Given the description of an element on the screen output the (x, y) to click on. 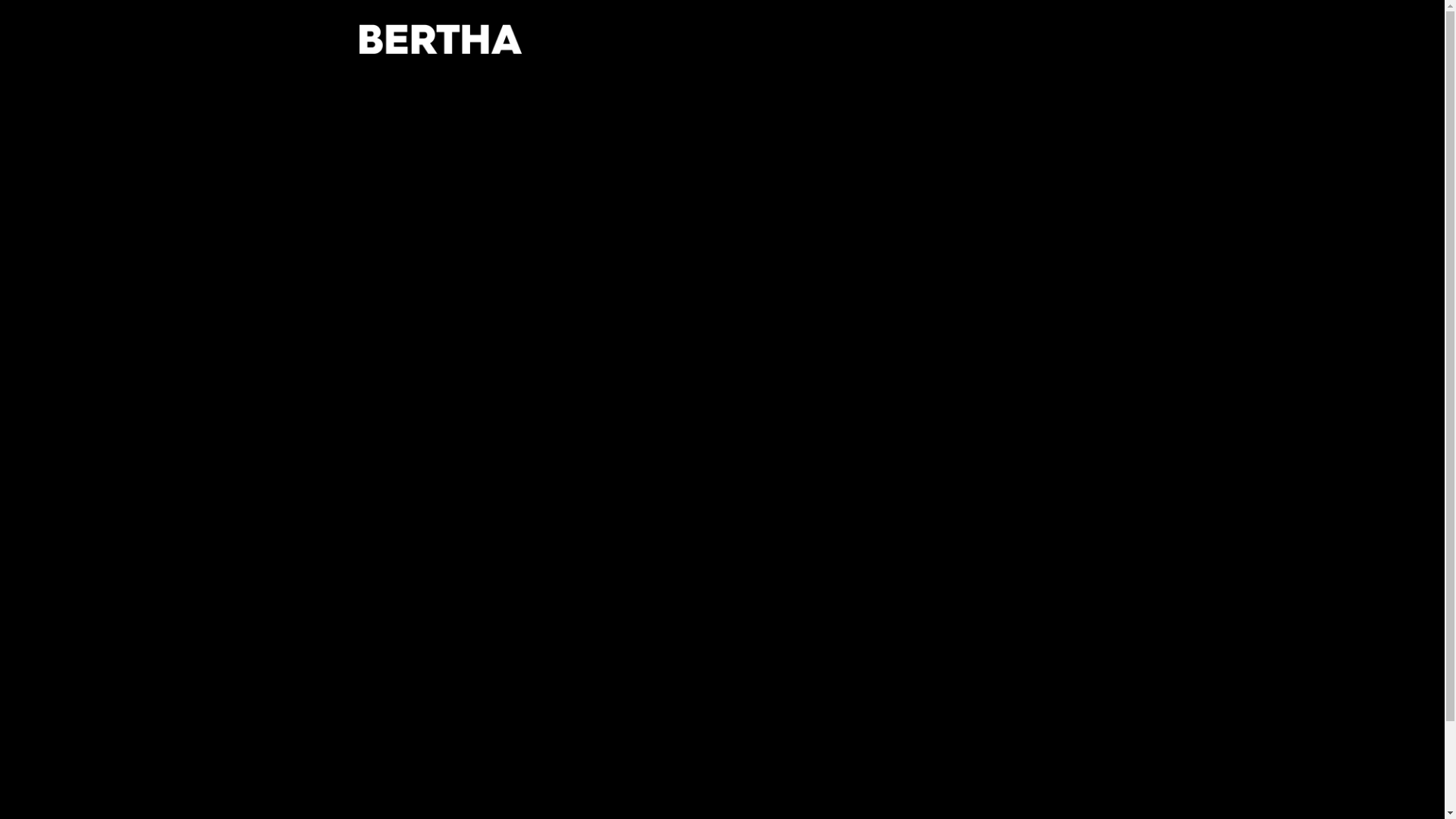
BERTHA Element type: hover (439, 62)
